Given the description of an element on the screen output the (x, y) to click on. 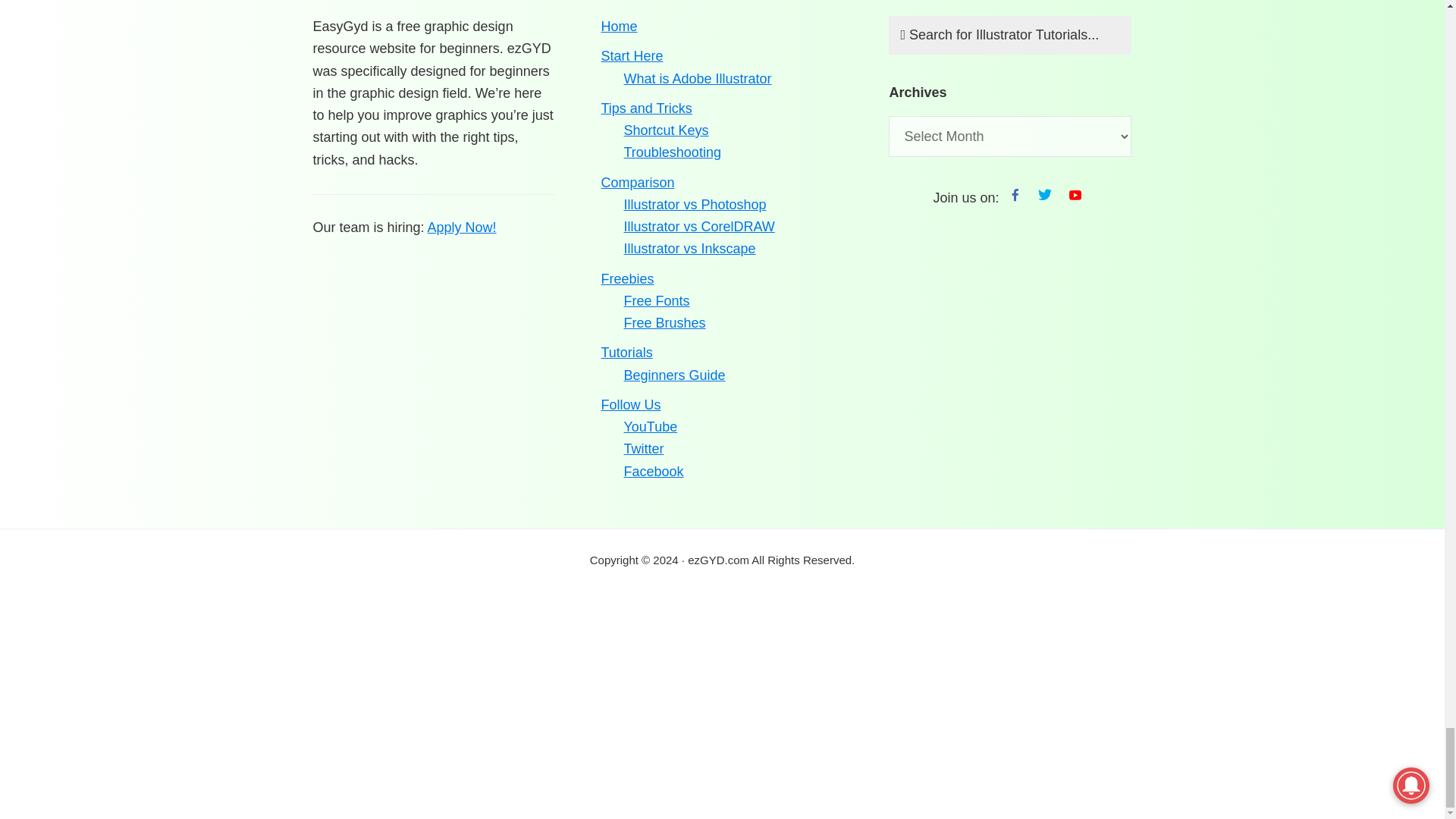
Apply Now to Join EZGyd (462, 227)
